Given the description of an element on the screen output the (x, y) to click on. 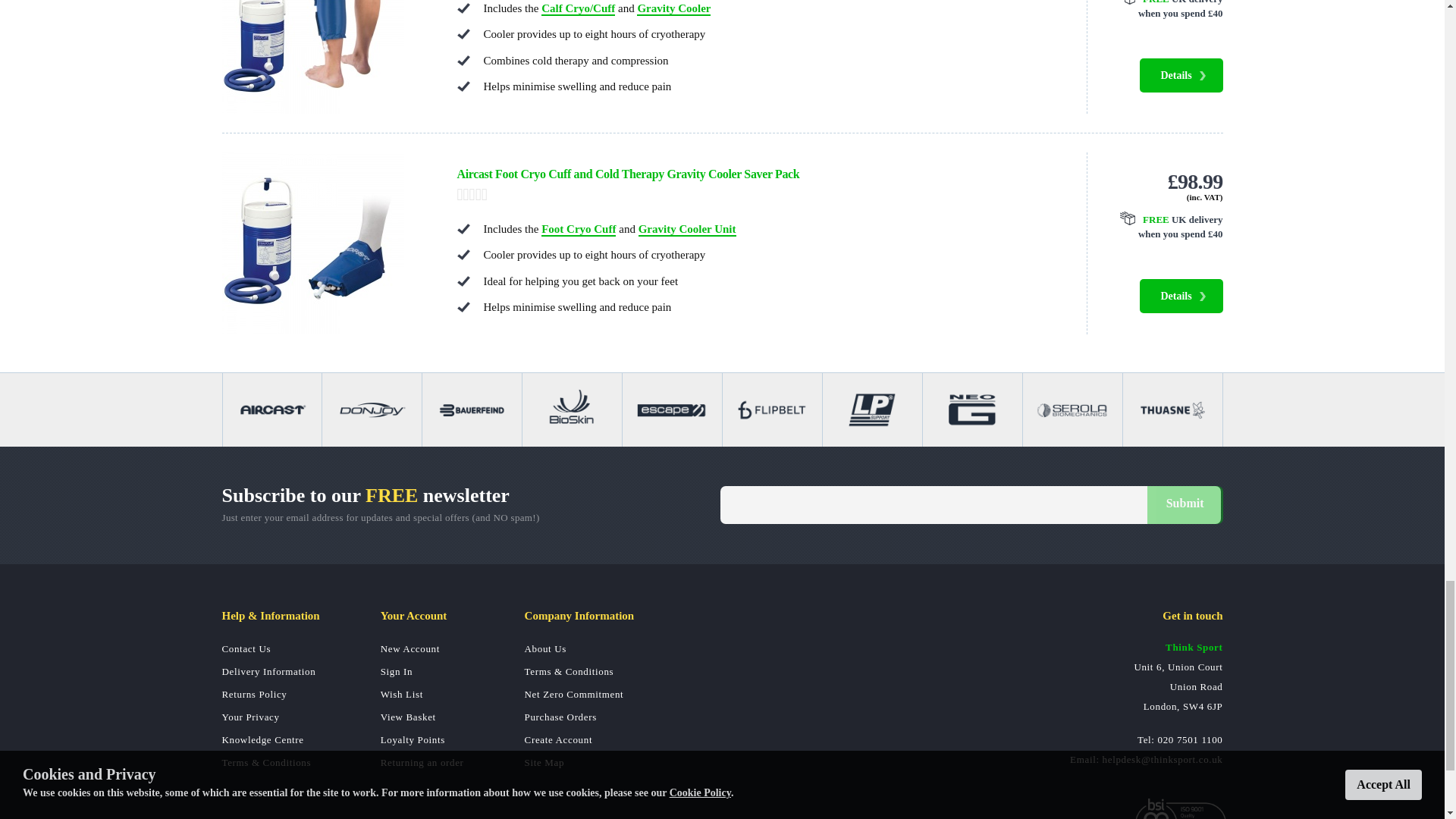
Escape Fitness (672, 409)
Full product details (1180, 75)
Full product details (1180, 295)
BioSkin (571, 409)
Click for details (1164, 226)
Gravity Cooler (673, 8)
Not yet reviewed (756, 194)
Click for details (1164, 10)
FlipBelt (771, 409)
LP Supports (871, 409)
